Given the description of an element on the screen output the (x, y) to click on. 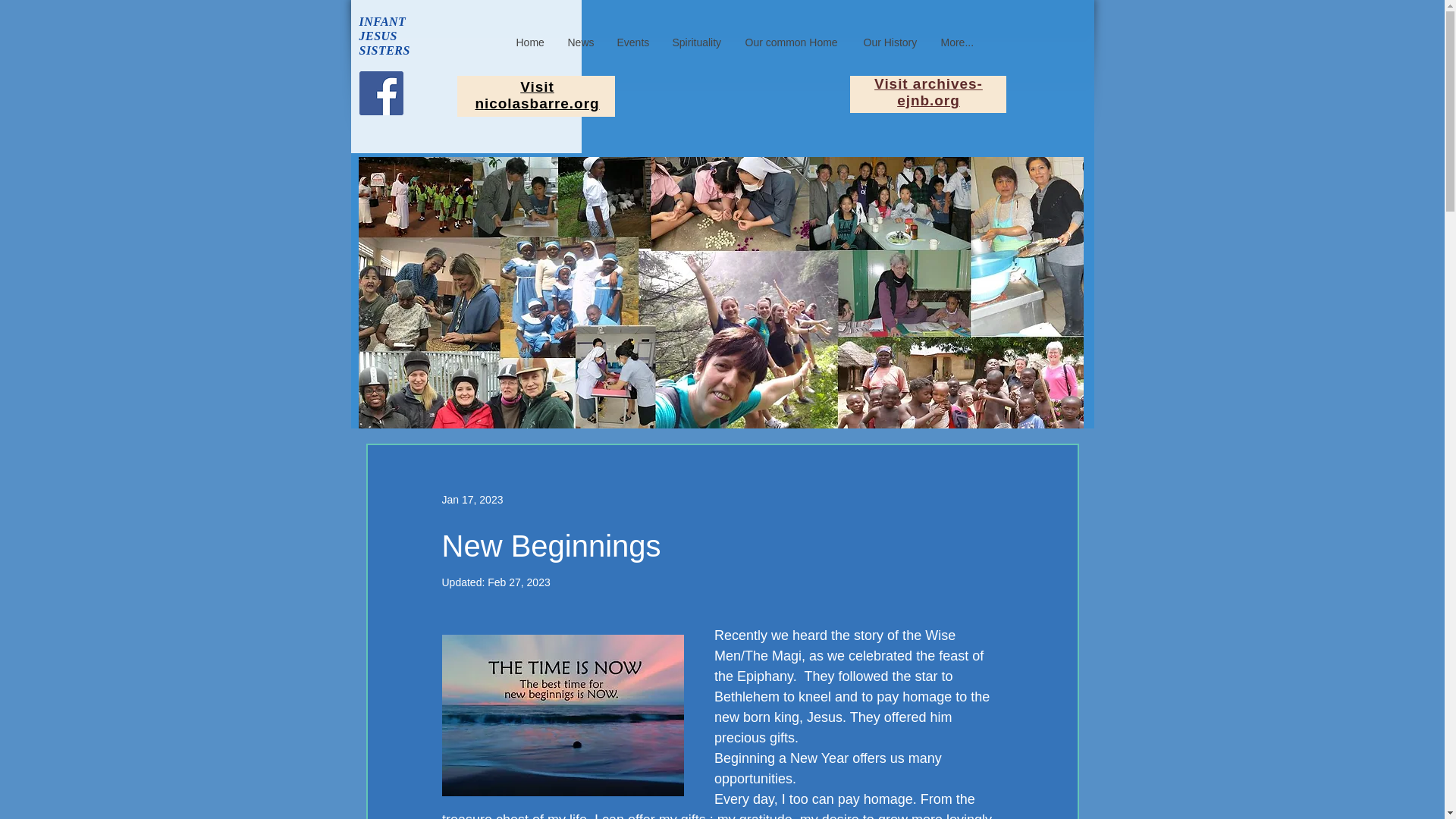
Feb 27, 2023 (518, 582)
News (580, 42)
Spirituality (697, 42)
Home (530, 42)
Our common Home (792, 42)
Visit nicolasbarre.org (536, 94)
Our History (890, 42)
Events (633, 42)
Visit archives-ejnb.org (928, 92)
Jan 17, 2023 (471, 499)
